Given the description of an element on the screen output the (x, y) to click on. 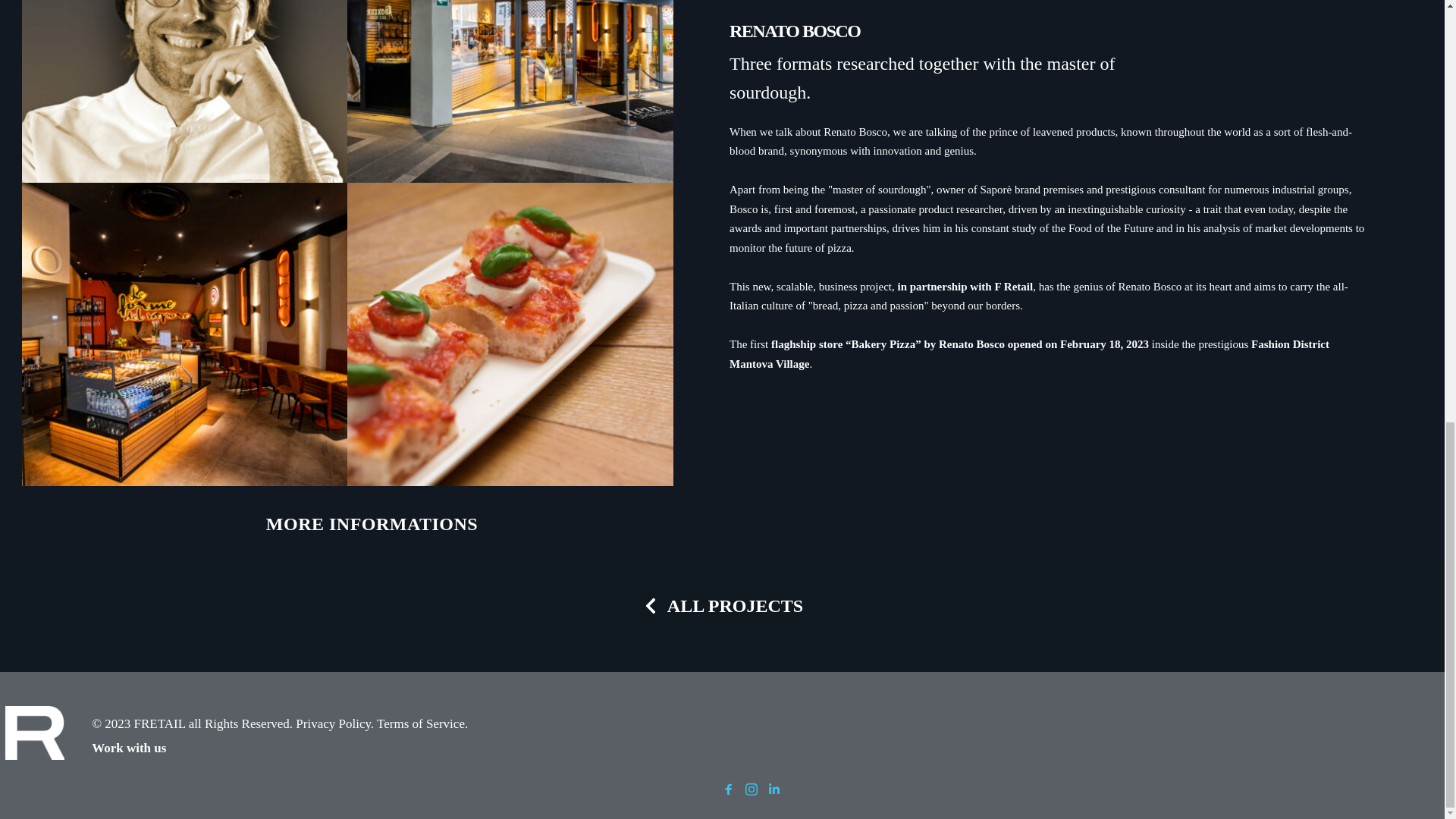
Work with us (128, 748)
ALL PROJECTS (721, 605)
